Given the description of an element on the screen output the (x, y) to click on. 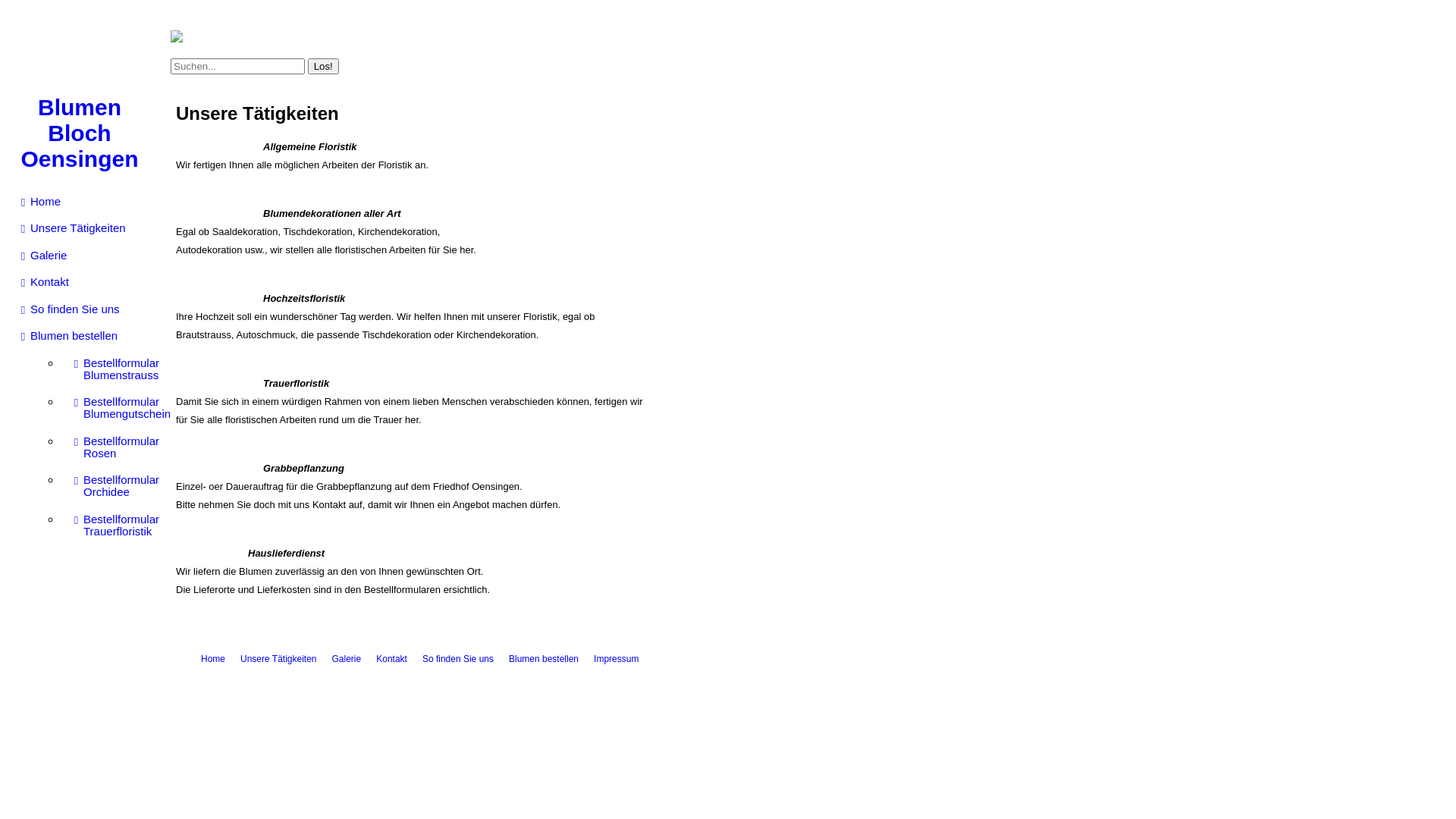
Impressum Element type: text (615, 658)
Galerie Element type: text (346, 658)
Home Element type: text (86, 201)
Blumen bestellen Element type: text (86, 335)
Home Element type: text (212, 658)
So finden Sie uns Element type: text (457, 658)
Blumen Bloch
Oensingen Element type: text (79, 133)
Galerie Element type: text (86, 255)
Los! Element type: text (322, 65)
Kontakt Element type: text (86, 281)
Bestellformular Orchidee Element type: text (113, 485)
Blumen bestellen Element type: text (543, 658)
So finden Sie uns Element type: text (86, 309)
Bestellformular Rosen Element type: text (113, 447)
Kontakt Element type: text (391, 658)
Bestellformular Blumenstrauss Element type: text (113, 368)
Bestellformular Blumengutschein Element type: text (113, 407)
Bestellformular Trauerfloristik Element type: text (113, 525)
